Given the description of an element on the screen output the (x, y) to click on. 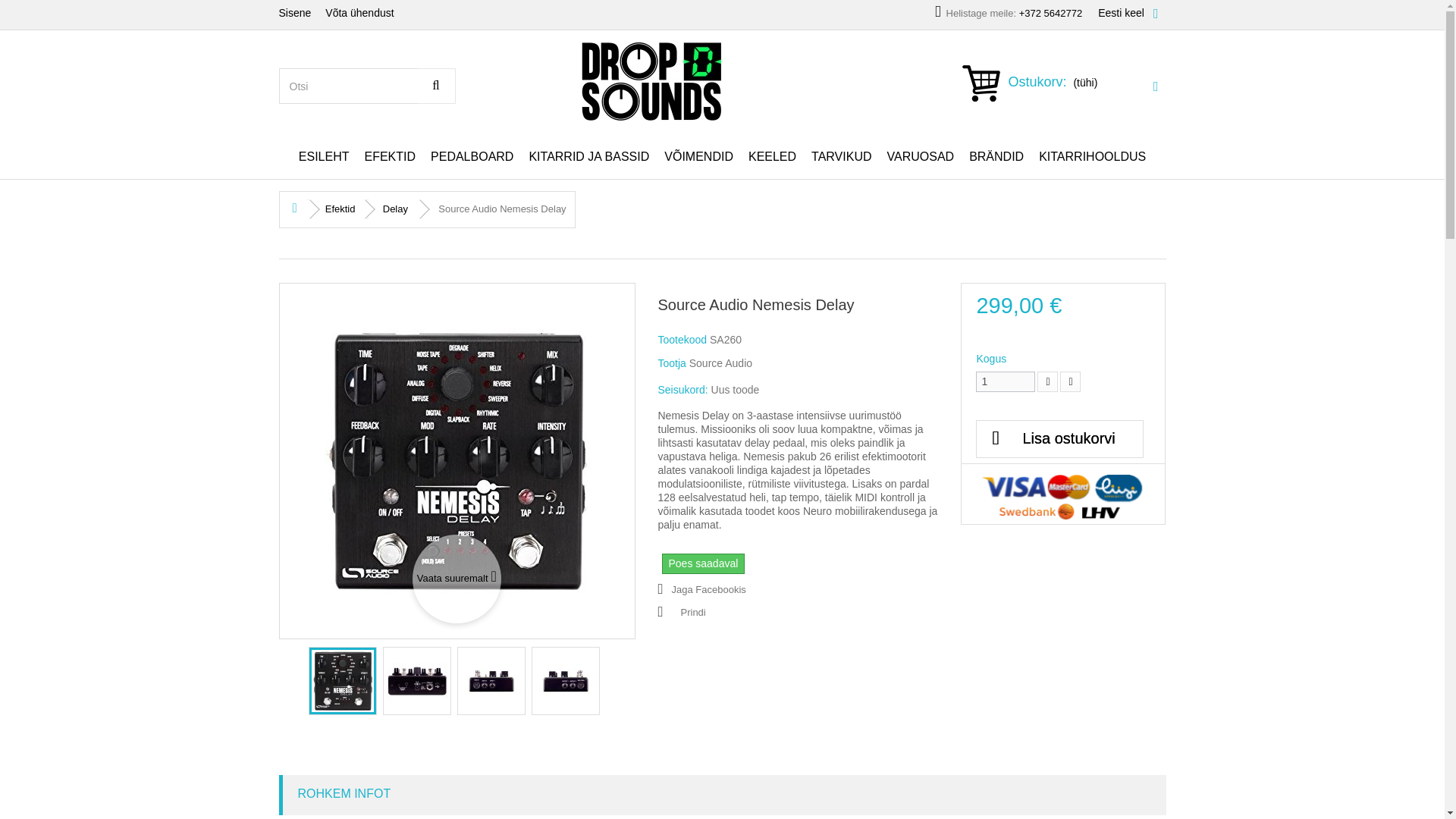
Sisene (298, 13)
Vaata ostukorvi (1063, 86)
EFEKTID (389, 156)
1 (1005, 381)
Efektid (389, 156)
ESILEHT (323, 156)
Esileht (323, 156)
Drop-D Sounds (720, 80)
Sisene oma kliendi kontole (298, 13)
